Given the description of an element on the screen output the (x, y) to click on. 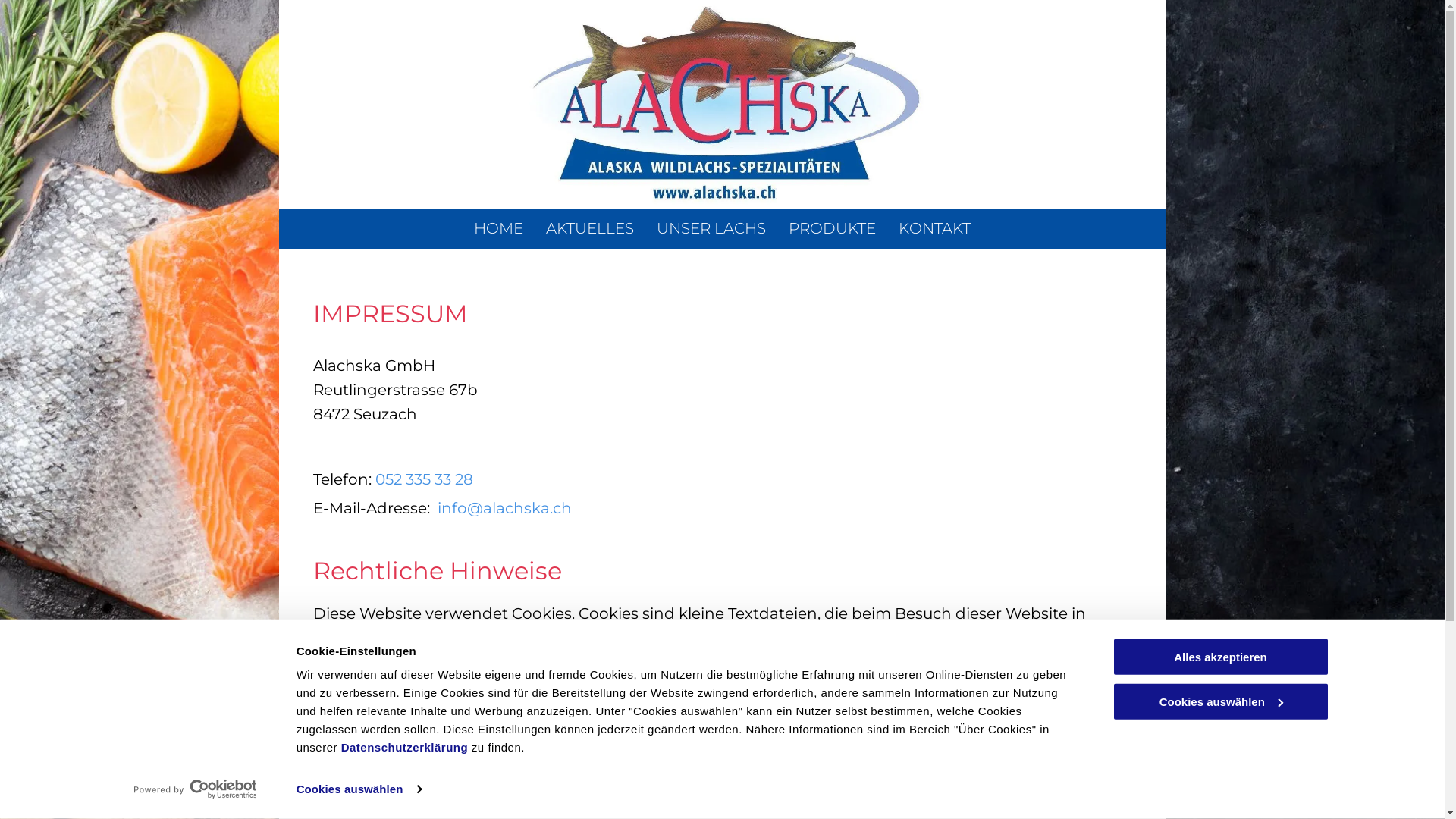
PRODUKTE Element type: text (832, 228)
AKTUELLES Element type: text (589, 228)
local.ch Element type: text (593, 802)
Alles akzeptieren Element type: text (1219, 656)
UNSER LACHS Element type: text (711, 228)
localsearch.ch Element type: text (543, 778)
info@alachska.ch Element type: text (503, 507)
HOME Element type: text (498, 228)
KONTAKT Element type: text (934, 228)
052 335 33 28 Element type: text (423, 479)
  Element type: text (435, 507)
